Given the description of an element on the screen output the (x, y) to click on. 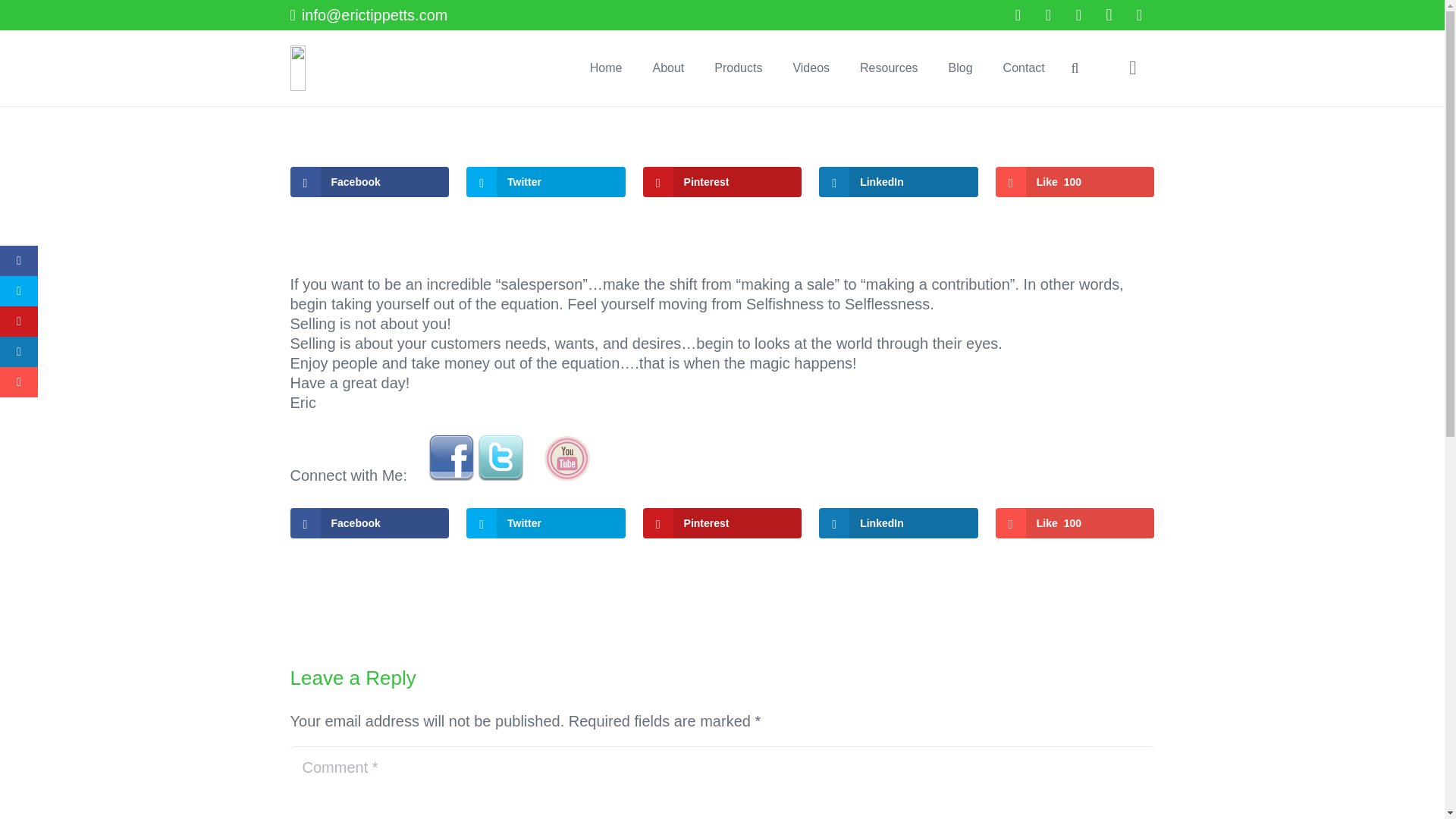
Like 100 (1074, 522)
Facebook (368, 182)
Facebook (368, 522)
YouTube (1079, 15)
Contact (1023, 68)
Instagram (1109, 15)
Videos (810, 68)
LinkedIn (898, 522)
Pinterest (722, 182)
Twitter (545, 522)
